Given the description of an element on the screen output the (x, y) to click on. 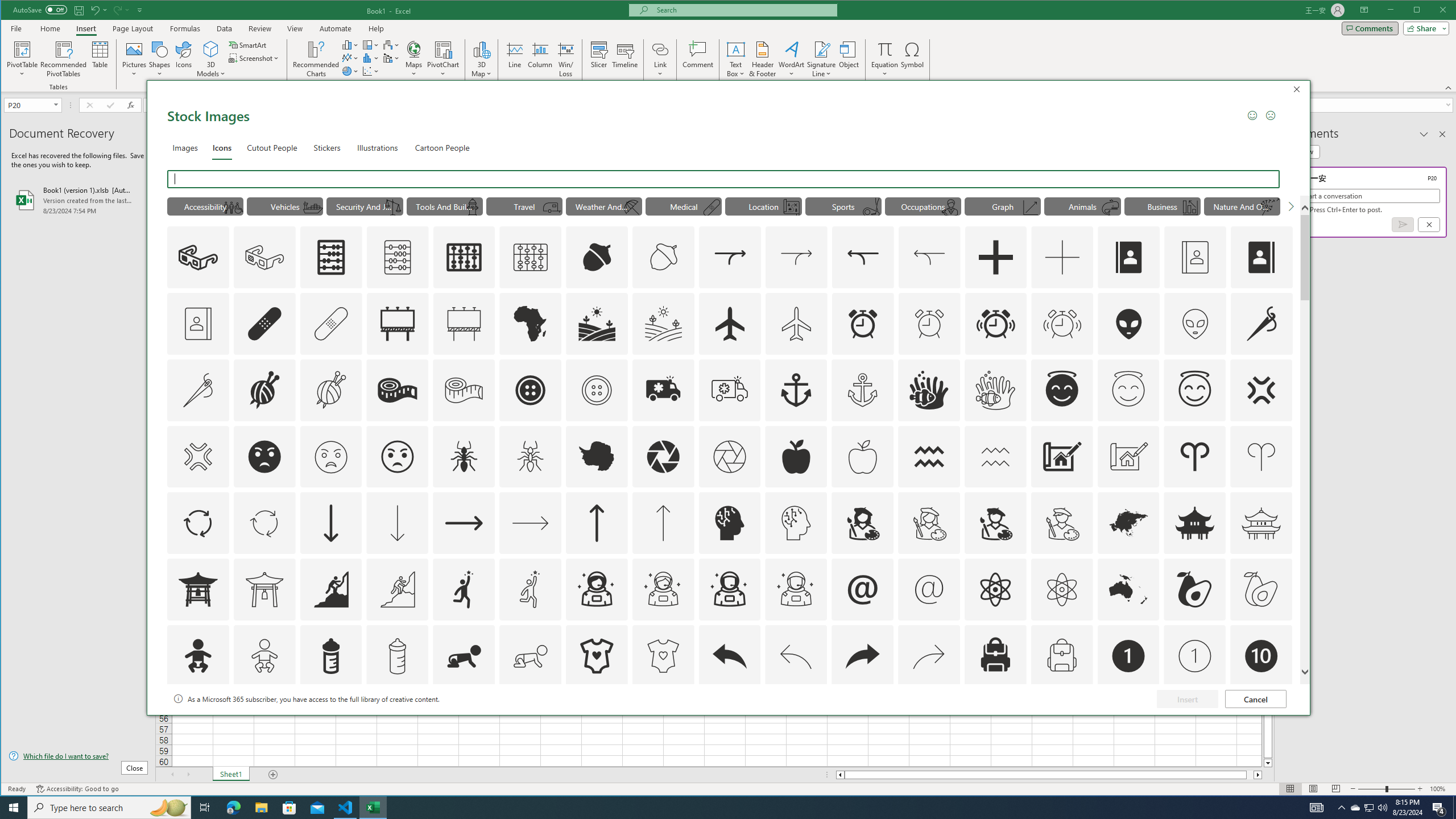
Maximize (1432, 11)
AutomationID: Icons_AlterationsTailoring3 (530, 389)
AutomationID: Icons_AlarmRinging (1368, 807)
Images (995, 323)
AutomationID: Icons_Badge6 (184, 147)
AutomationID: Icons_Aspiration1_M (796, 721)
AutomationID: Icons_Aries (530, 589)
